Given the description of an element on the screen output the (x, y) to click on. 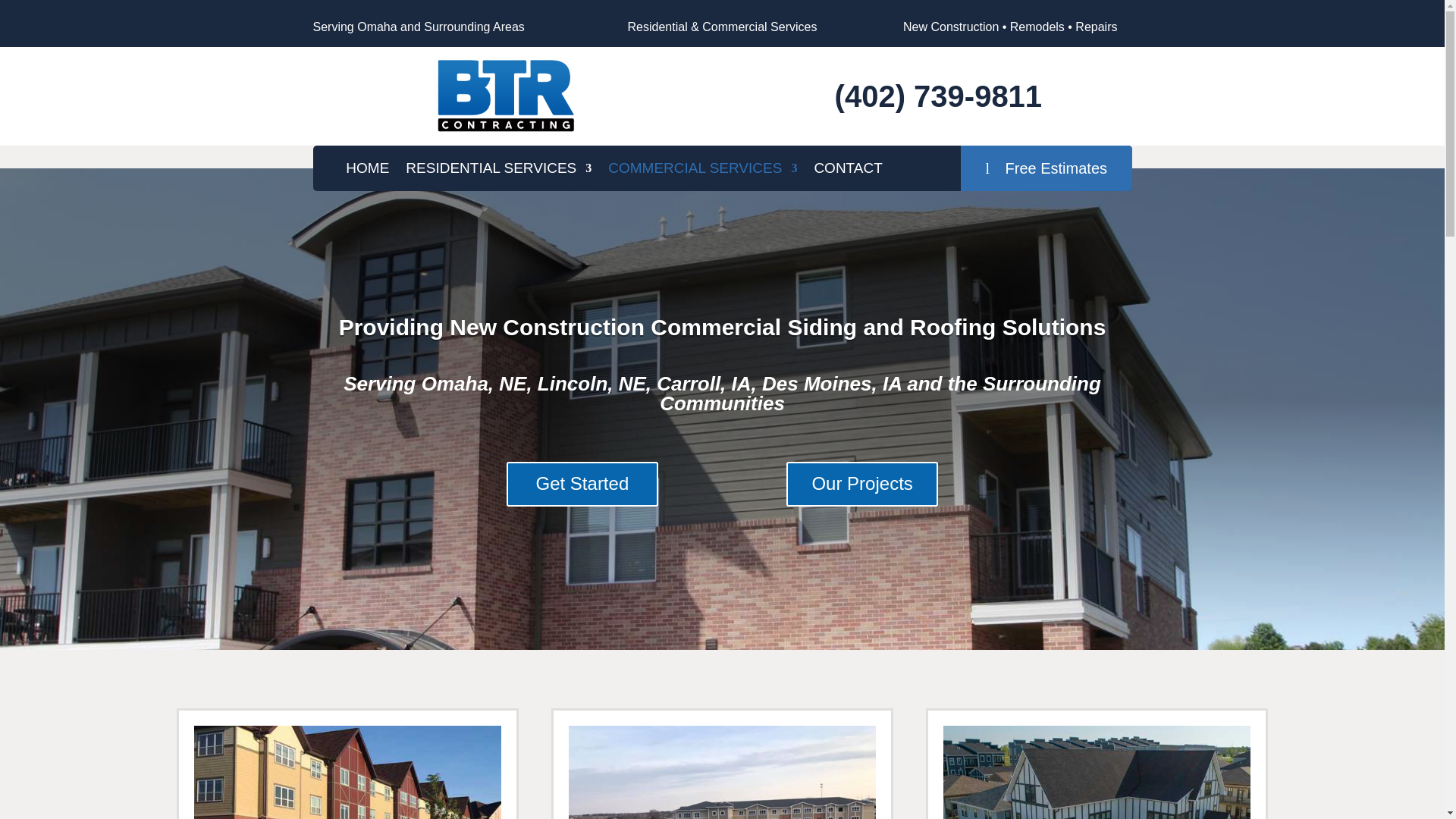
COMMERCIAL SERVICES (702, 170)
CONTACT (847, 170)
Bunglows on the Lake 053020202 (1096, 772)
Free Estimates (1046, 167)
Our Projects (861, 483)
Get Started (582, 483)
BTR Main I (505, 96)
RESIDENTIAL SERVICES (498, 170)
HOME (367, 170)
